Given the description of an element on the screen output the (x, y) to click on. 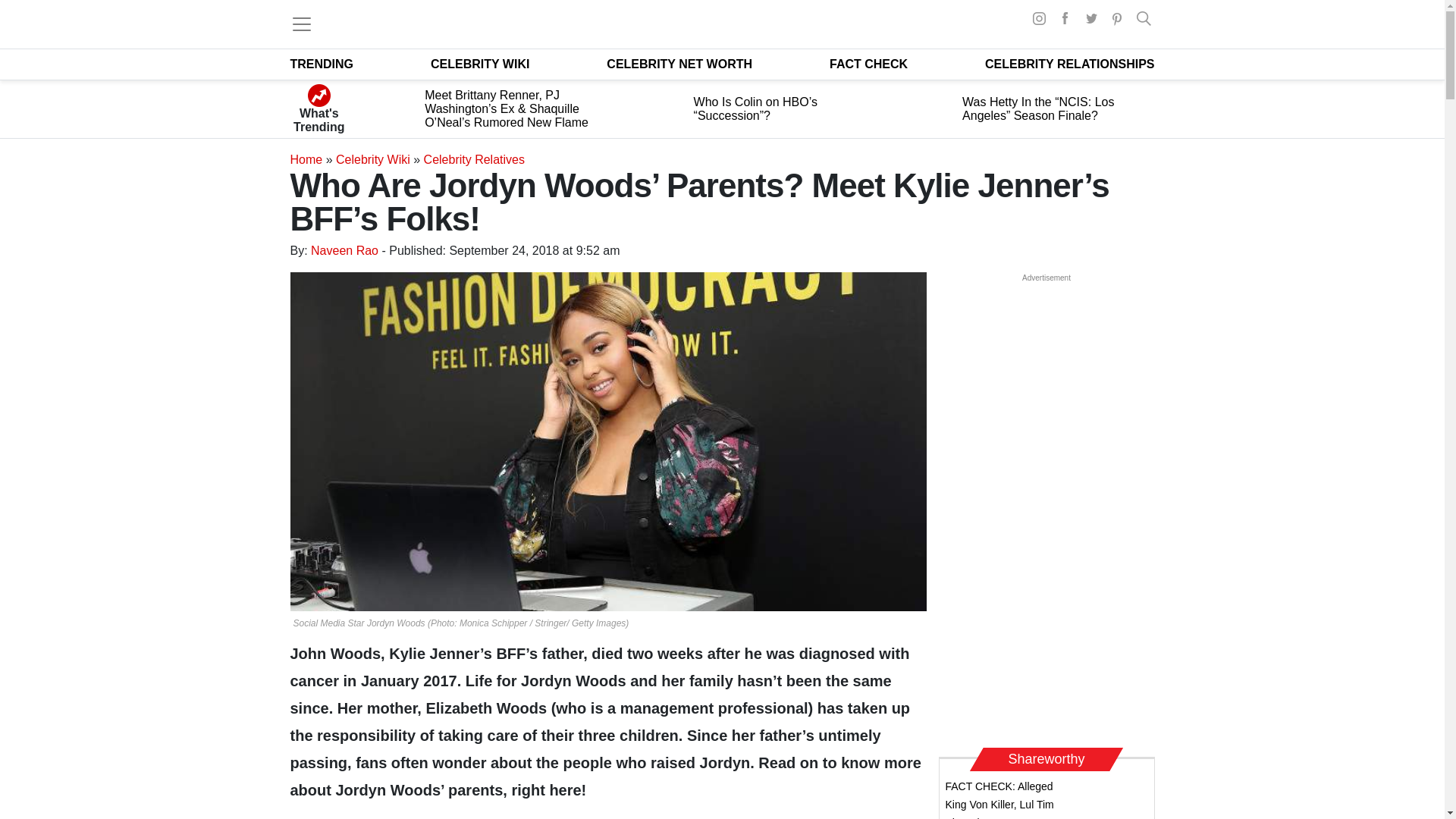
CELEBRITY RELATIONSHIPS (1069, 63)
FACT CHECK: Alleged King Von Killer, Lul Tim Shot Six... (998, 799)
CELEBRITY WIKI (479, 63)
Menu (301, 24)
Home (305, 159)
CELEBRITY NET WORTH (679, 63)
Celebrity Wiki (373, 159)
Naveen Rao (344, 250)
FACT CHECK (868, 63)
TRENDING (321, 63)
Posts by Naveen Rao (344, 250)
Celebrity Relatives (473, 159)
